Given the description of an element on the screen output the (x, y) to click on. 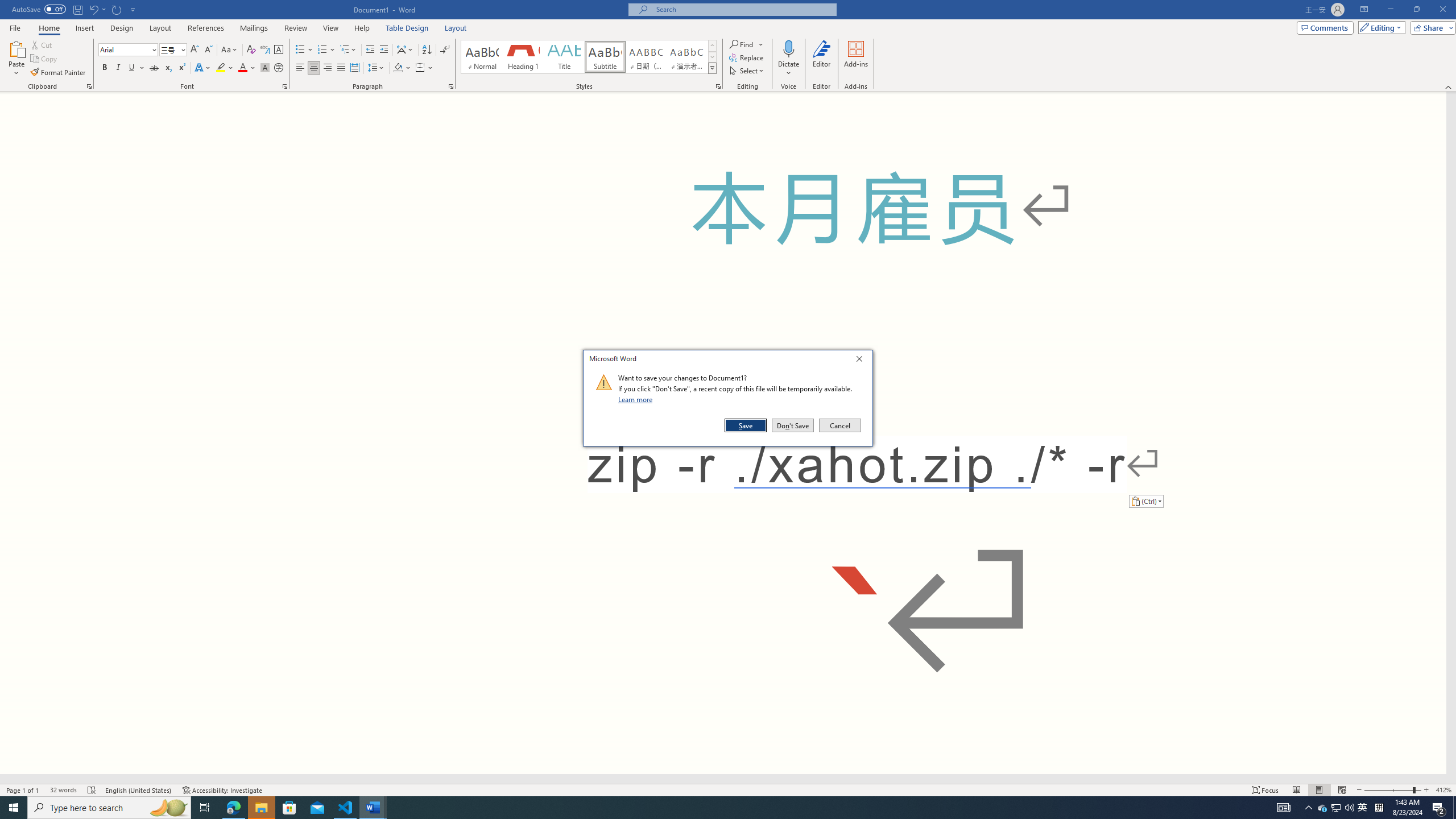
File Explorer - 1 running window (261, 807)
Row Down (1362, 807)
Word Count 32 words (711, 56)
Table Design (63, 790)
Notification Chevron (1322, 807)
Distributed (407, 28)
